Given the description of an element on the screen output the (x, y) to click on. 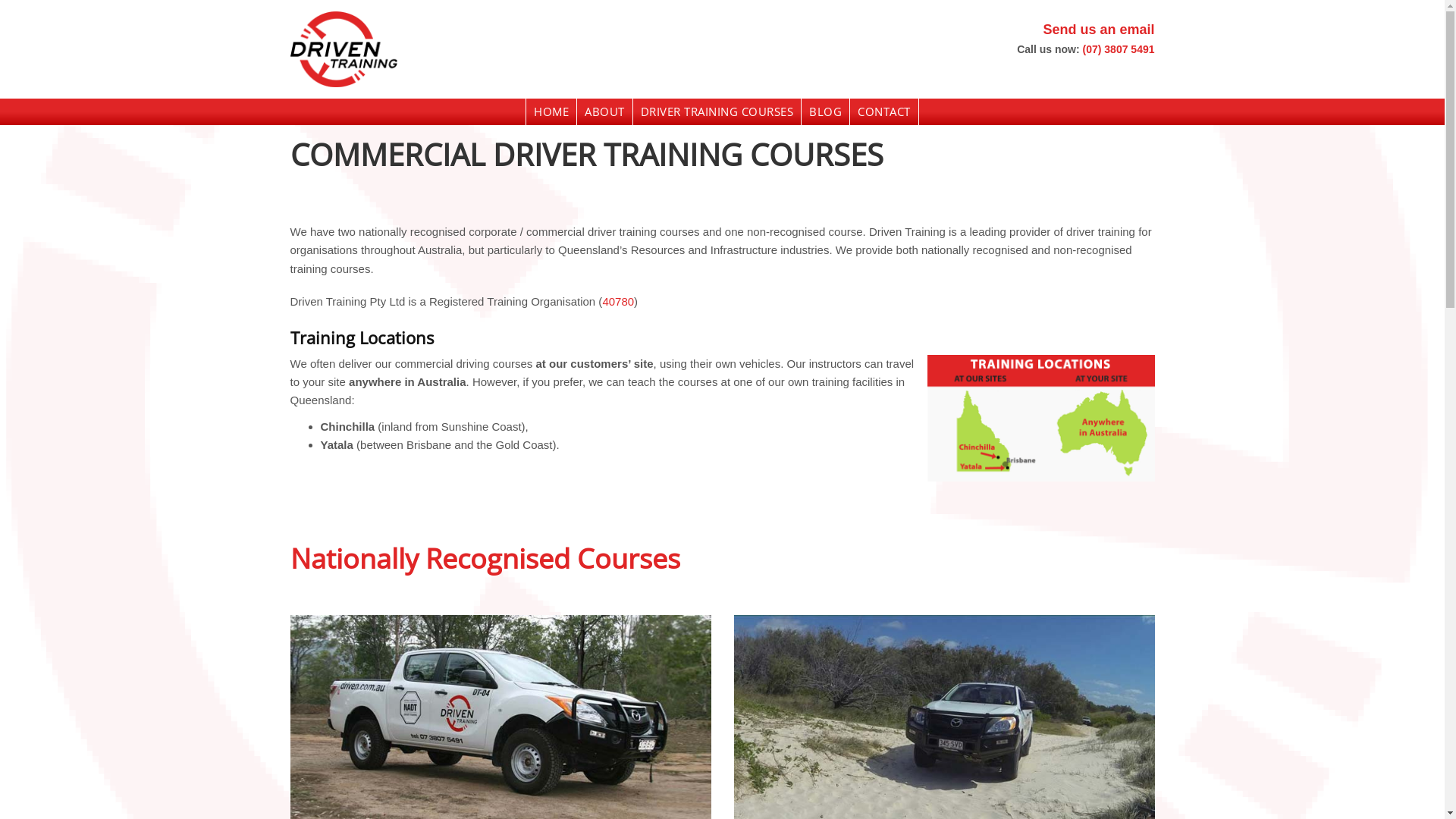
BLOG Element type: text (825, 111)
CONTACT Element type: text (884, 111)
ABOUT Element type: text (604, 111)
DRIVER TRAINING COURSES Element type: text (717, 111)
HOME Element type: text (551, 111)
Driven Training Element type: text (527, 49)
(07) 3807 5491 Element type: text (1118, 49)
Send us an email Element type: text (1098, 29)
40780 Element type: text (617, 300)
